Given the description of an element on the screen output the (x, y) to click on. 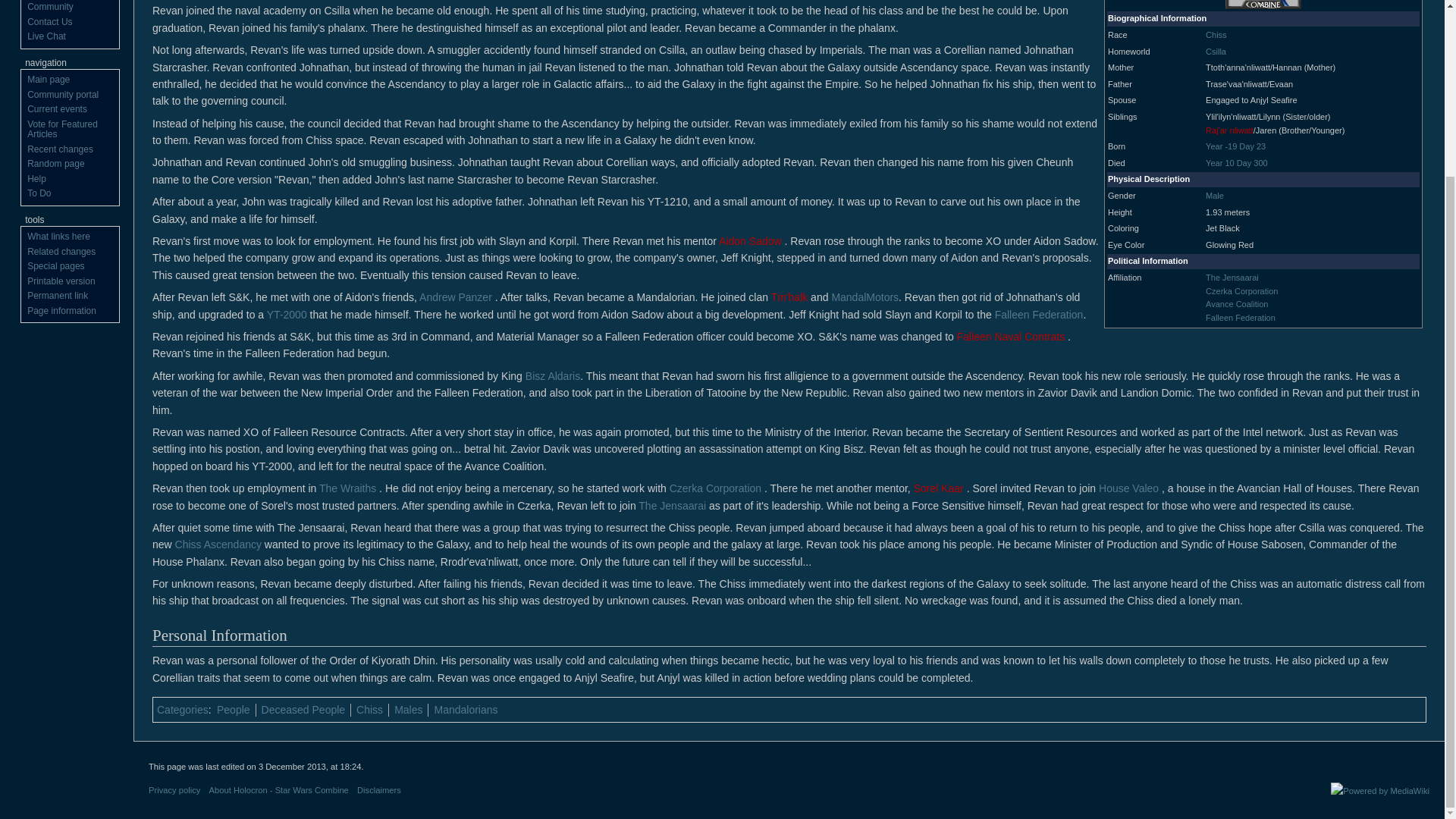
Male (1214, 194)
Bisz Aldaris (552, 376)
Falleen Federation (1240, 317)
YT-2000 (286, 314)
Categories (182, 709)
Year 10 Day 300 (1236, 162)
Falleen Federation (1240, 317)
Csilla (1215, 51)
The Jensaarai (1232, 276)
Avance Coalition (1236, 303)
Tm'halk (789, 297)
Males (408, 709)
Andrew Panzer (455, 297)
Czerka Corporation (1241, 290)
MandalMotors (864, 297)
